Given the description of an element on the screen output the (x, y) to click on. 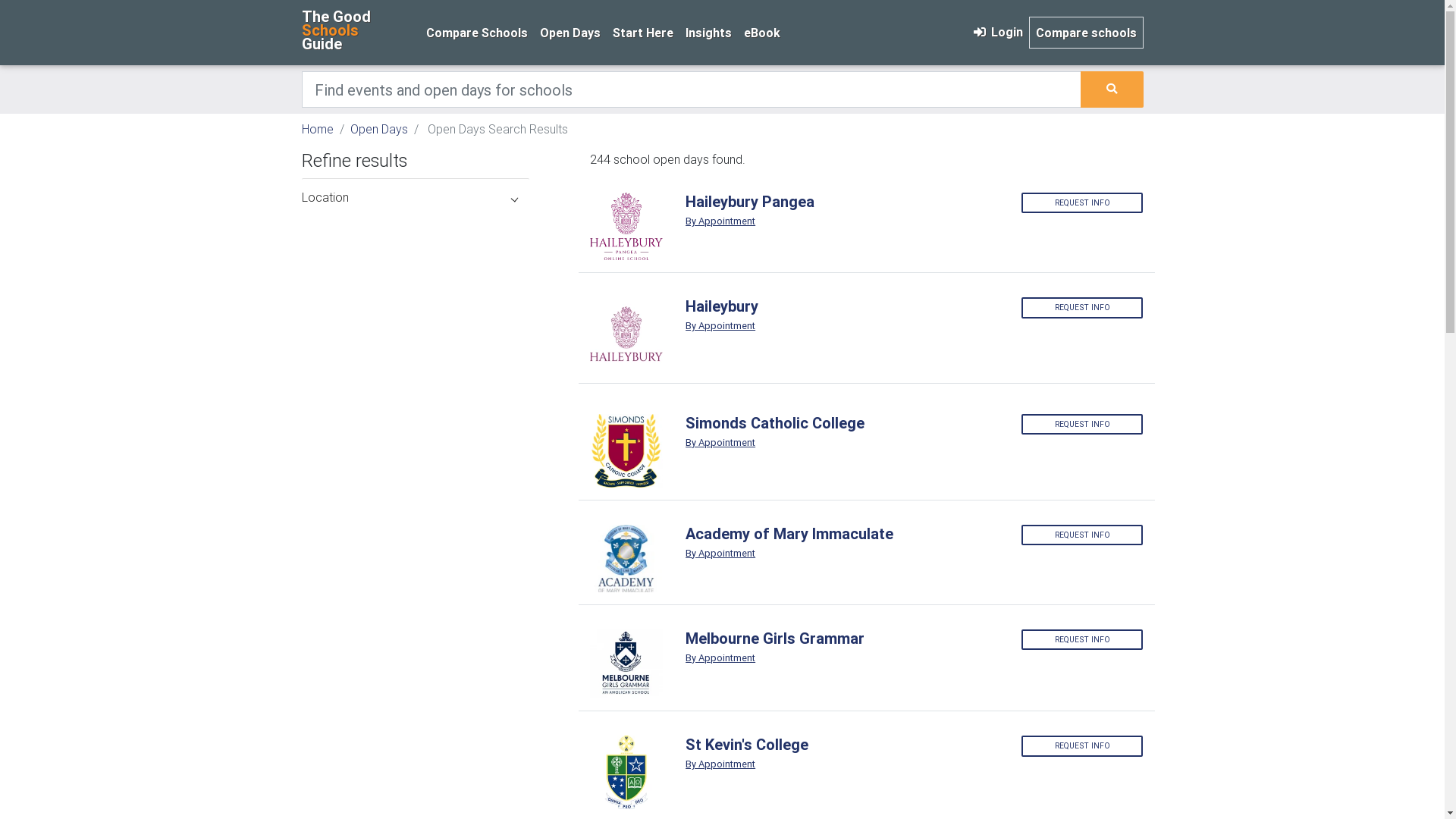
By Appointment Element type: text (758, 325)
REQUEST INFO Element type: text (1081, 639)
Insights Element type: text (708, 32)
Login Element type: text (996, 31)
REQUEST INFO Element type: text (1081, 534)
Open Days Element type: text (569, 32)
By Appointment Element type: text (758, 442)
Location Element type: text (415, 197)
Academy of Mary Immaculate Element type: text (841, 533)
Melbourne Girls Grammar Element type: text (841, 638)
Open Days Element type: text (378, 128)
Start Here Element type: text (642, 32)
eBook Element type: text (761, 32)
REQUEST INFO Element type: text (1081, 307)
St Kevin's College Element type: text (841, 744)
By Appointment Element type: text (758, 657)
By Appointment Element type: text (758, 763)
Compare Schools Element type: text (476, 32)
Compare schools Element type: text (1085, 32)
The Good
Schools
Guide Element type: text (354, 32)
REQUEST INFO Element type: text (1081, 424)
Home Element type: text (317, 128)
REQUEST INFO Element type: text (1081, 745)
Simonds Catholic College Element type: text (841, 423)
REQUEST INFO Element type: text (1081, 202)
Haileybury Pangea Element type: text (841, 201)
By Appointment Element type: text (758, 553)
Haileybury Element type: text (841, 306)
By Appointment Element type: text (758, 220)
